Given the description of an element on the screen output the (x, y) to click on. 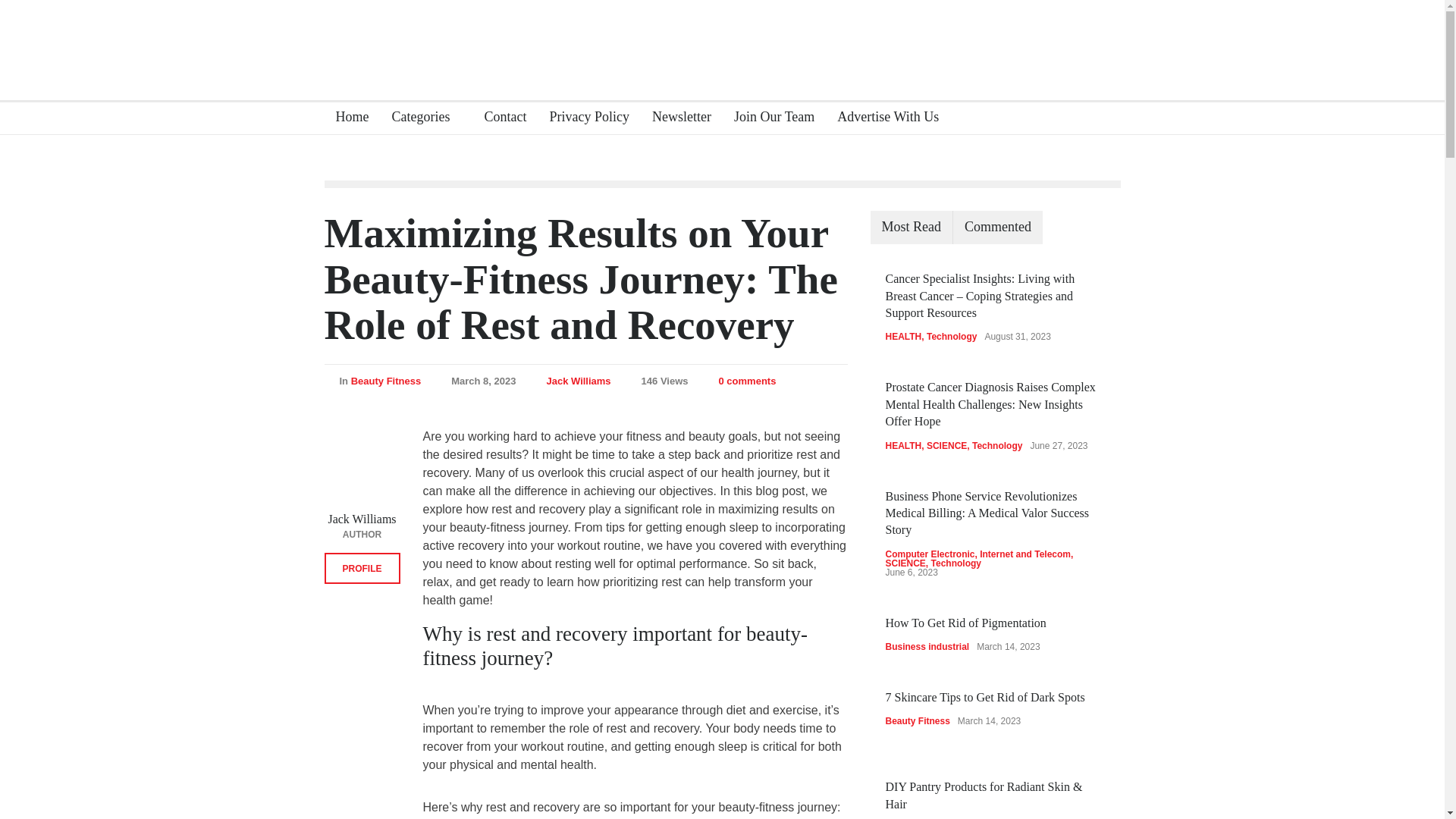
Newsletter (675, 118)
PROFILE (362, 567)
Privacy Policy (582, 118)
Categories (426, 118)
Jack Williams (578, 379)
Truegazette (722, 40)
Contact (498, 118)
0 comments (739, 380)
Home (346, 118)
0 comments (747, 379)
Advertise With Us (882, 118)
Join Our Team (767, 118)
View all posts filed under Beauty Fitness (385, 379)
